Given the description of an element on the screen output the (x, y) to click on. 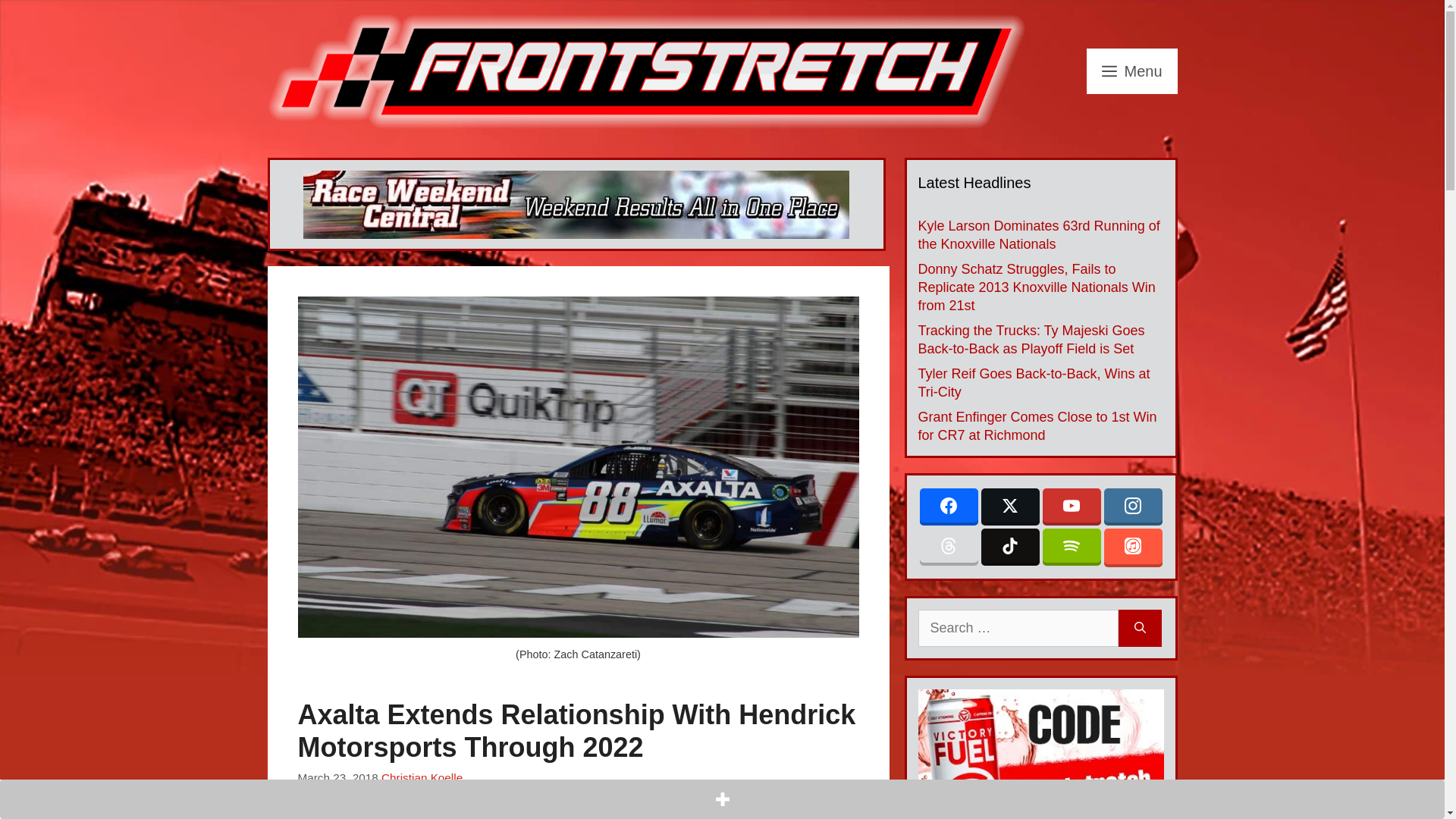
Menu (1131, 71)
Christian Koelle (422, 777)
